Given the description of an element on the screen output the (x, y) to click on. 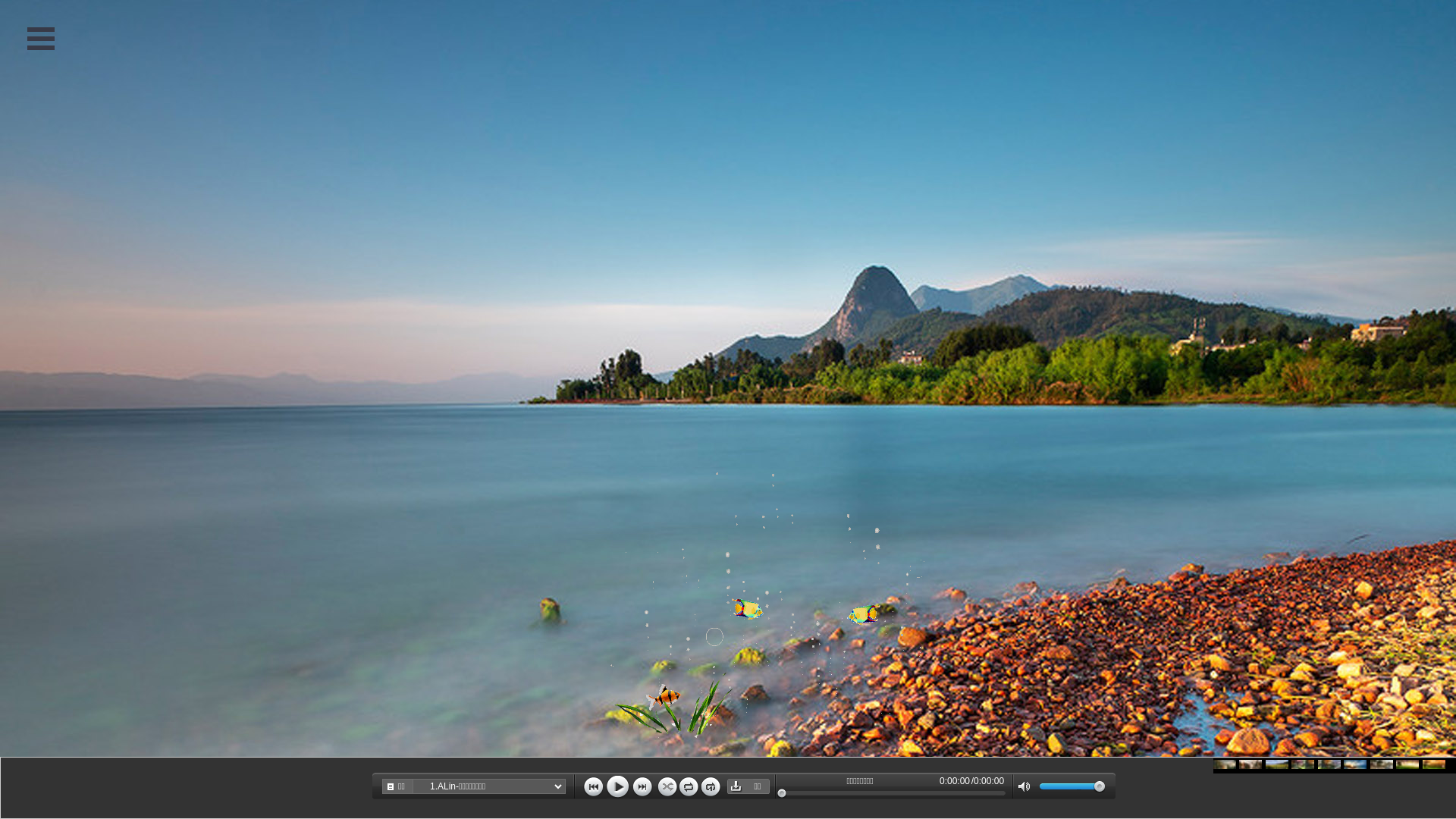
Open Menu Element type: text (40, 38)
